Given the description of an element on the screen output the (x, y) to click on. 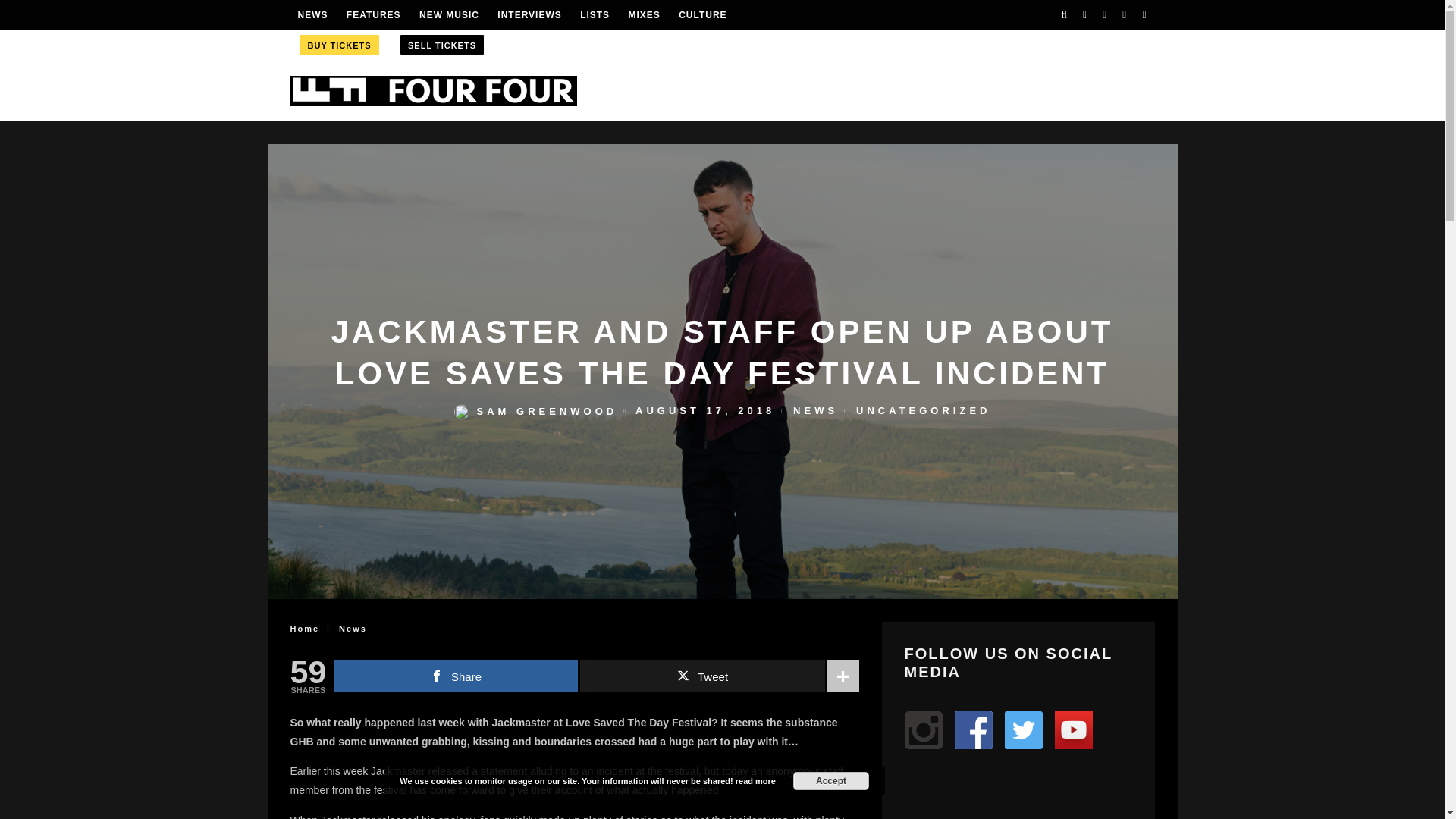
Home (303, 628)
SAM GREENWOOD (535, 410)
INTERVIEWS (528, 15)
BUY TICKETS (338, 44)
MIXES (643, 15)
NEWS (312, 15)
View all posts in News (352, 628)
NEW MUSIC (449, 15)
LISTS (594, 15)
UNCATEGORIZED (923, 410)
News (352, 628)
FEATURES (373, 15)
Tweet (701, 676)
View all posts in News (815, 410)
View all posts in Uncategorized (923, 410)
